Given the description of an element on the screen output the (x, y) to click on. 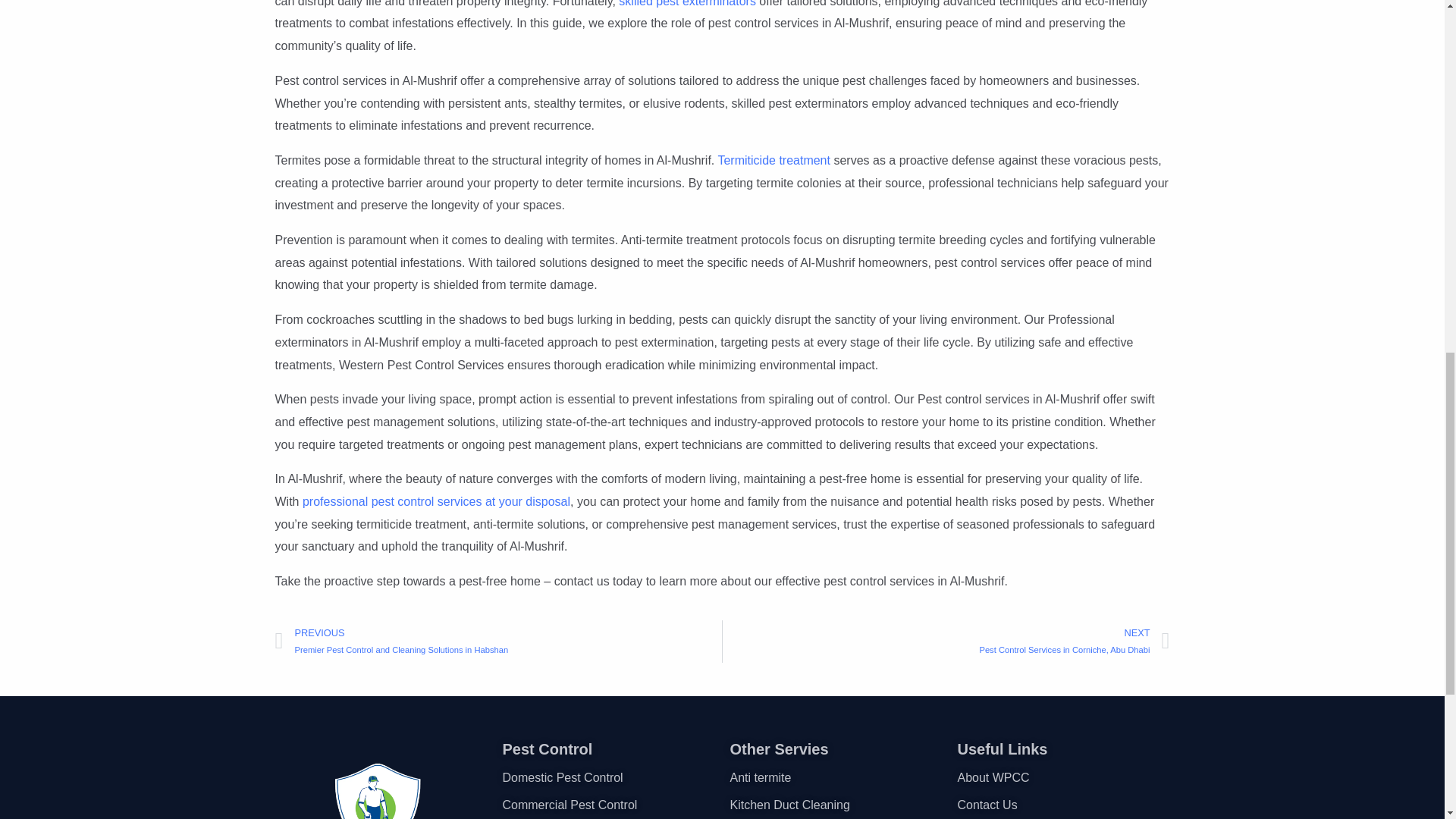
skilled pest exterminators (685, 3)
